Given the description of an element on the screen output the (x, y) to click on. 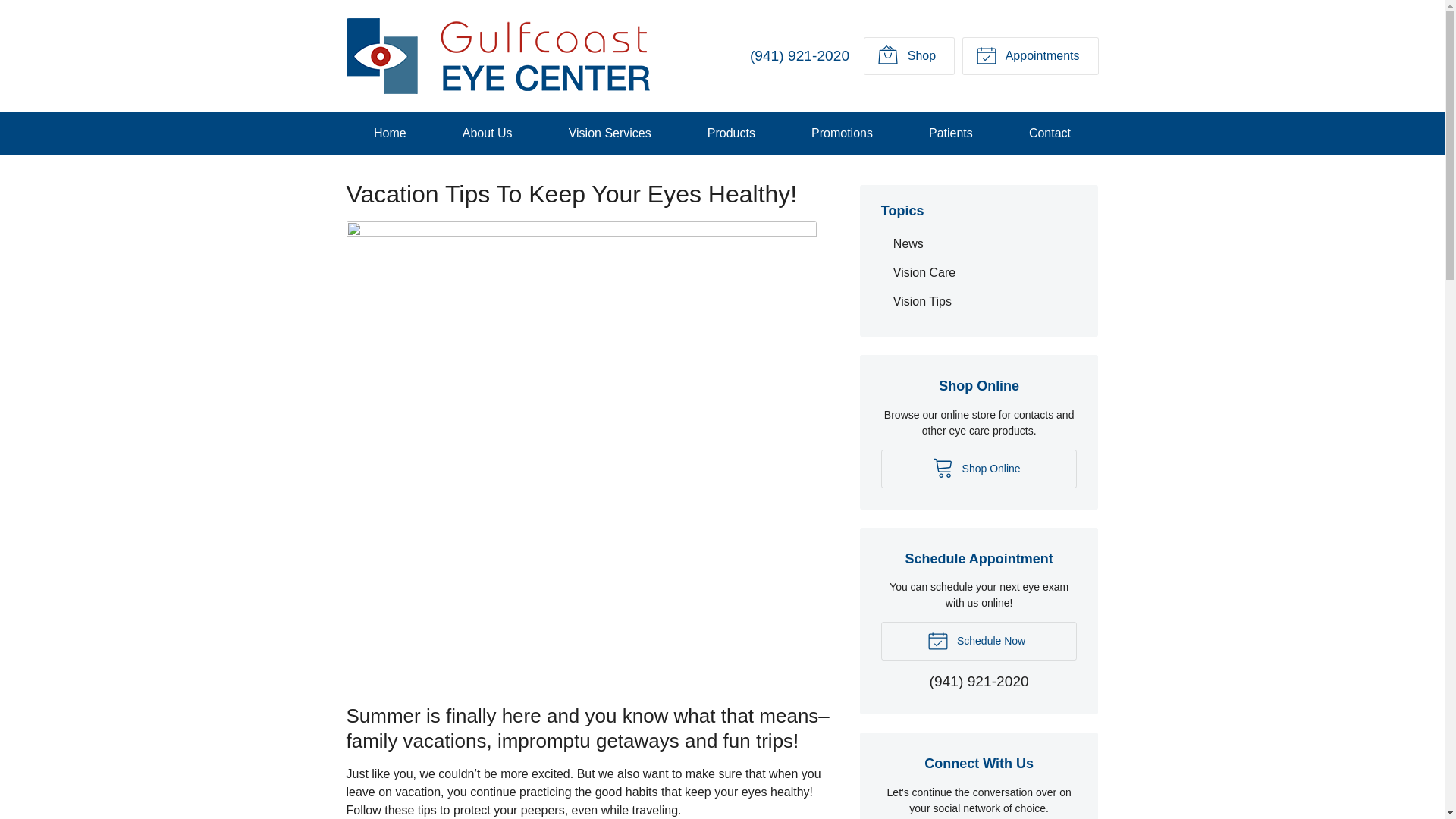
Shop (909, 55)
Shop Online (978, 468)
Shop Online (909, 55)
Vision Services (609, 133)
Call practice (798, 55)
Products (731, 133)
Home (389, 133)
Appointments (1029, 55)
Request Appointment (1029, 55)
Call practice (979, 682)
About Us (486, 133)
Gulfcoast Eye Center (497, 56)
Patients (950, 133)
Promotions (841, 133)
Schedule Now (978, 640)
